Given the description of an element on the screen output the (x, y) to click on. 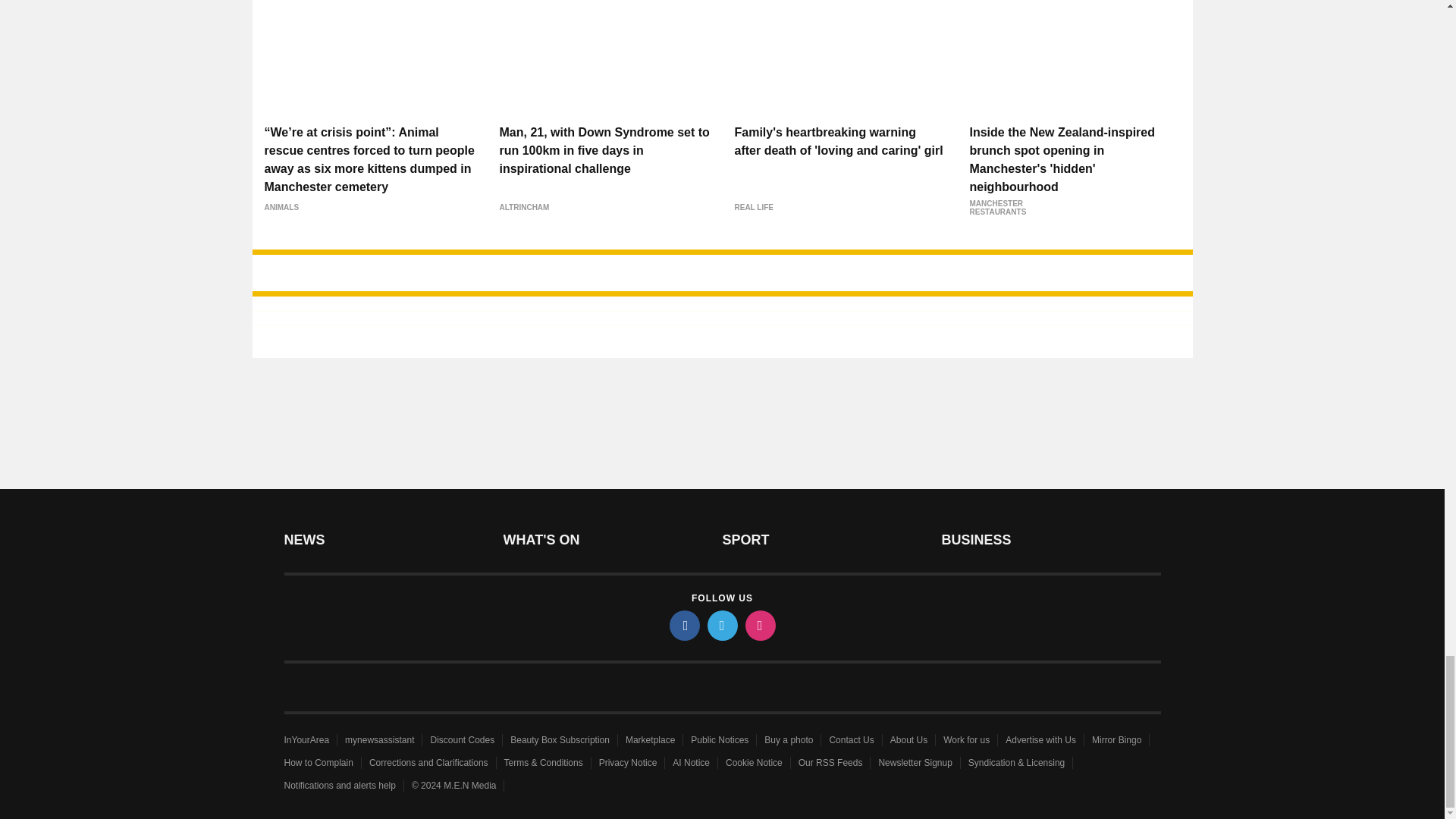
facebook (683, 625)
twitter (721, 625)
instagram (759, 625)
